Given the description of an element on the screen output the (x, y) to click on. 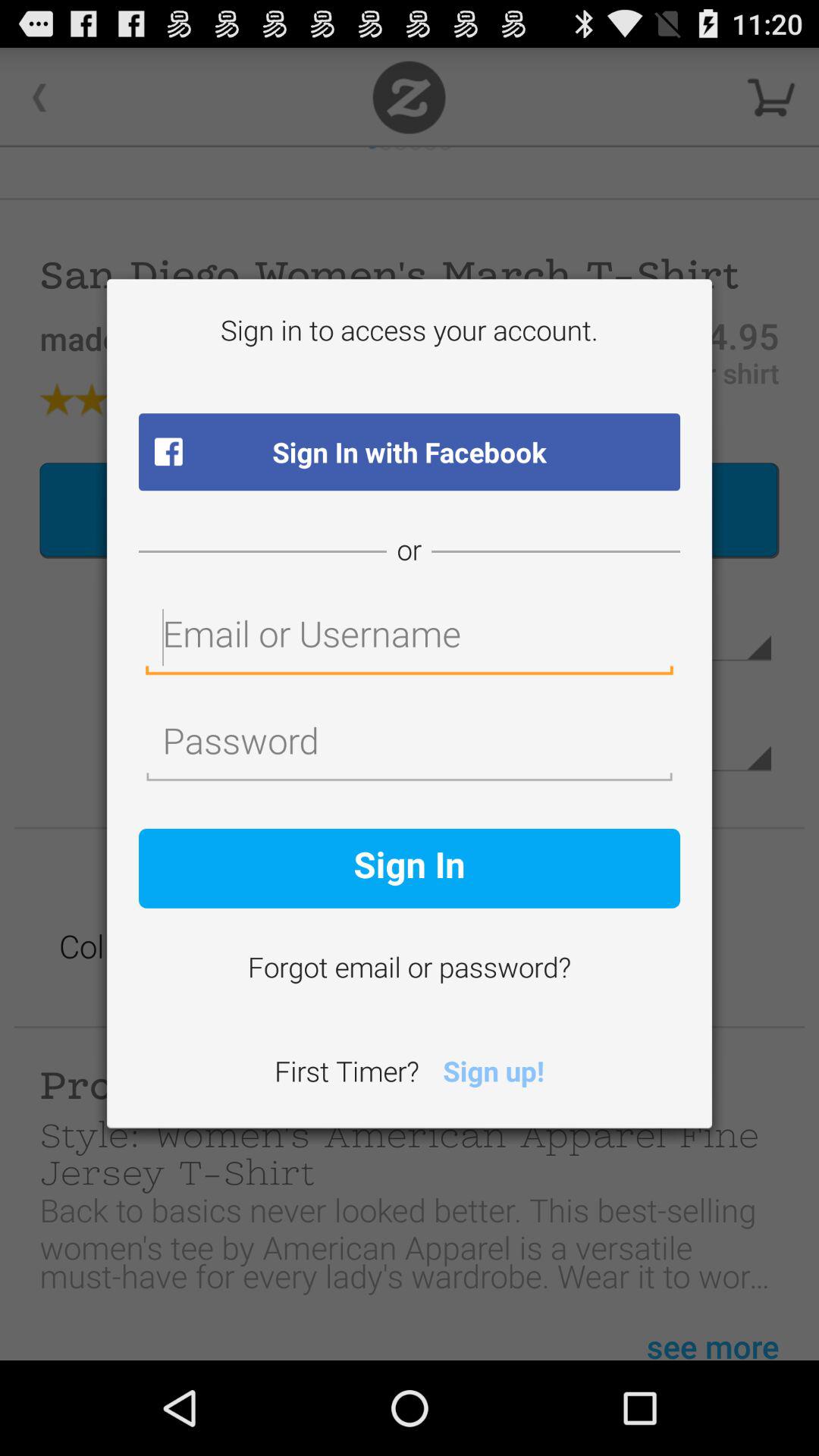
launch the item next to the first timer? icon (493, 1073)
